Given the description of an element on the screen output the (x, y) to click on. 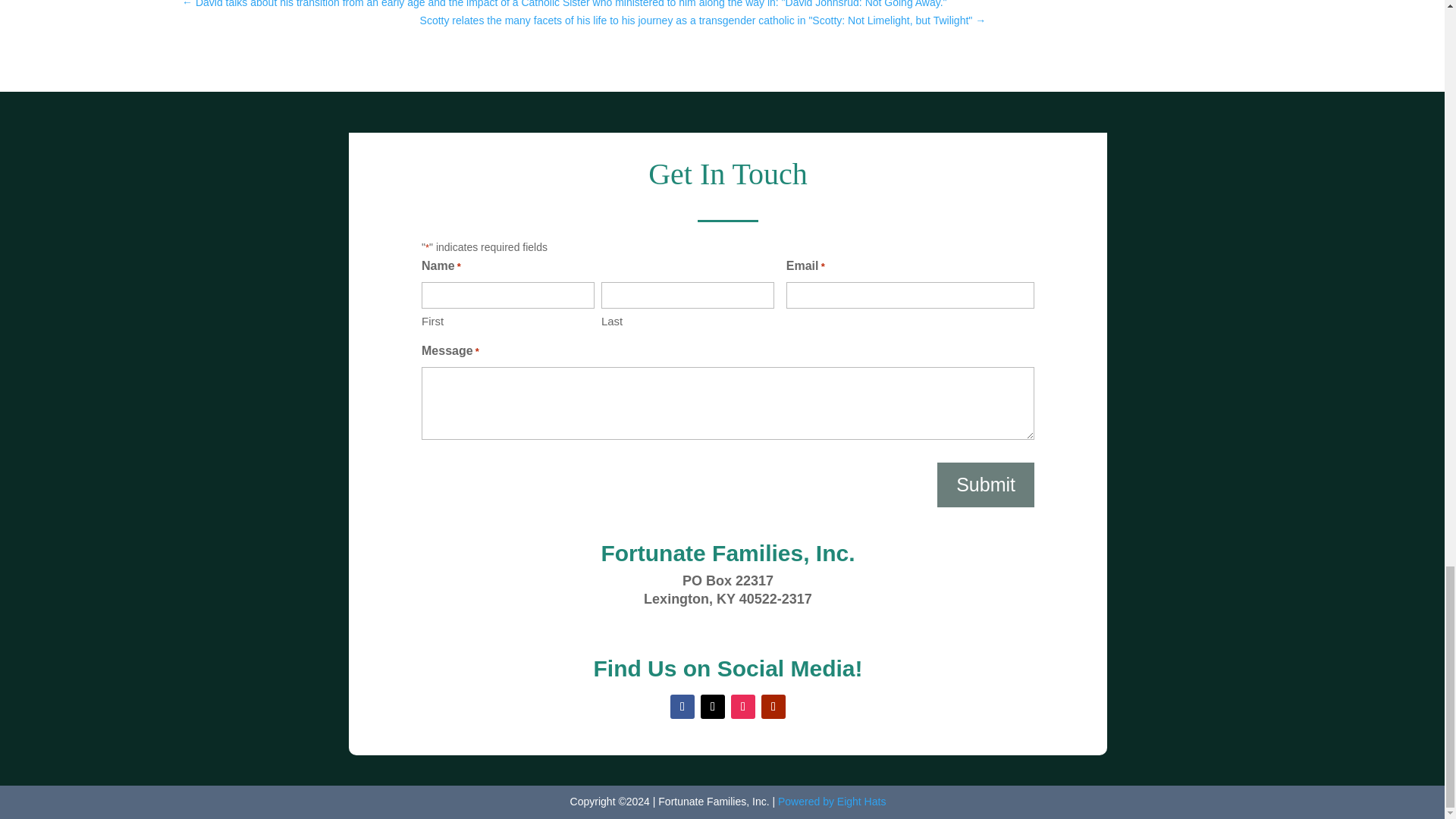
Follow on Instagram (742, 706)
Follow on Facebook (681, 706)
Submit (985, 484)
Follow on X (712, 706)
Follow on Youtube (773, 706)
